Given the description of an element on the screen output the (x, y) to click on. 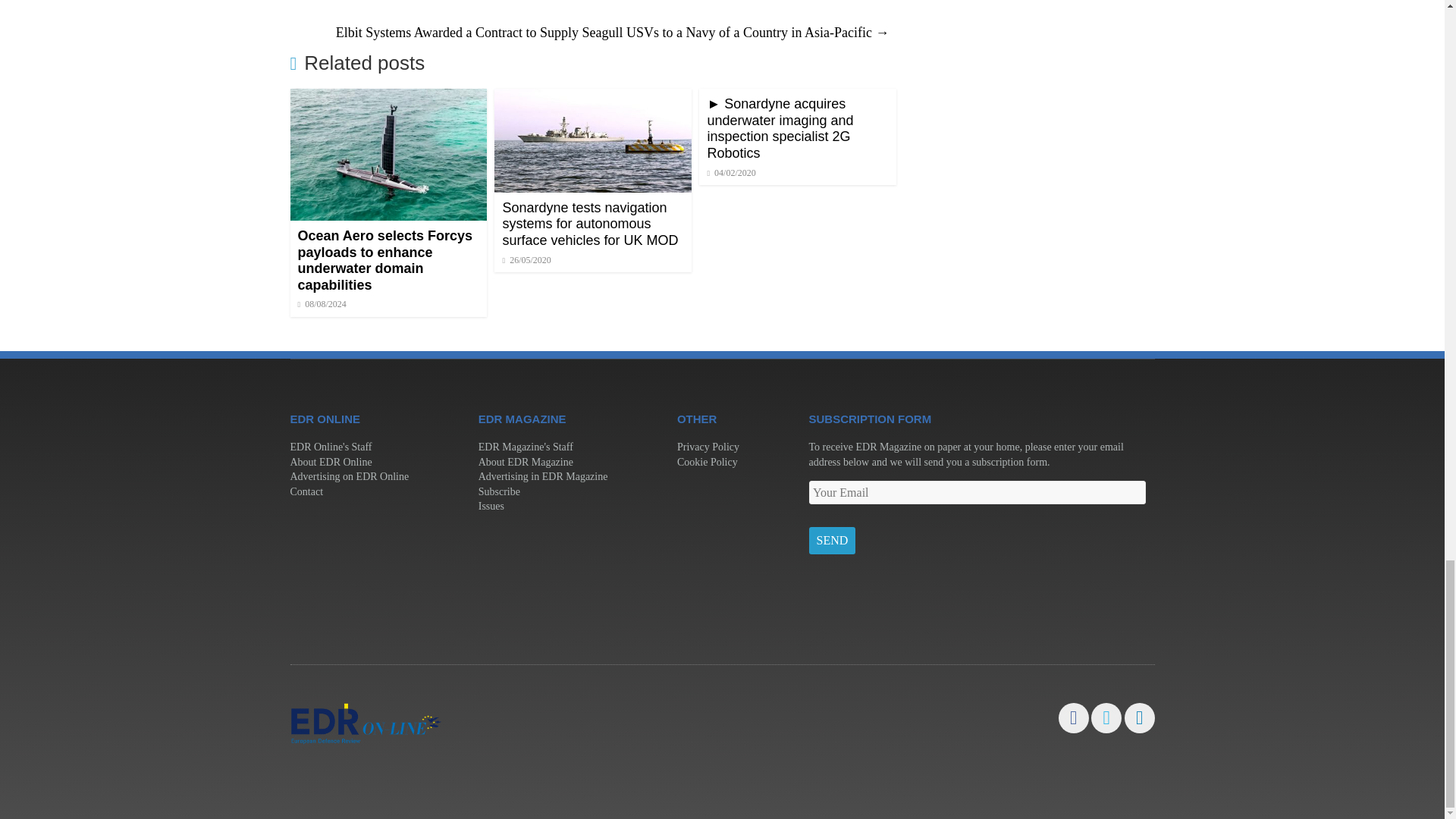
18:24 (321, 303)
SEND (832, 540)
